Given the description of an element on the screen output the (x, y) to click on. 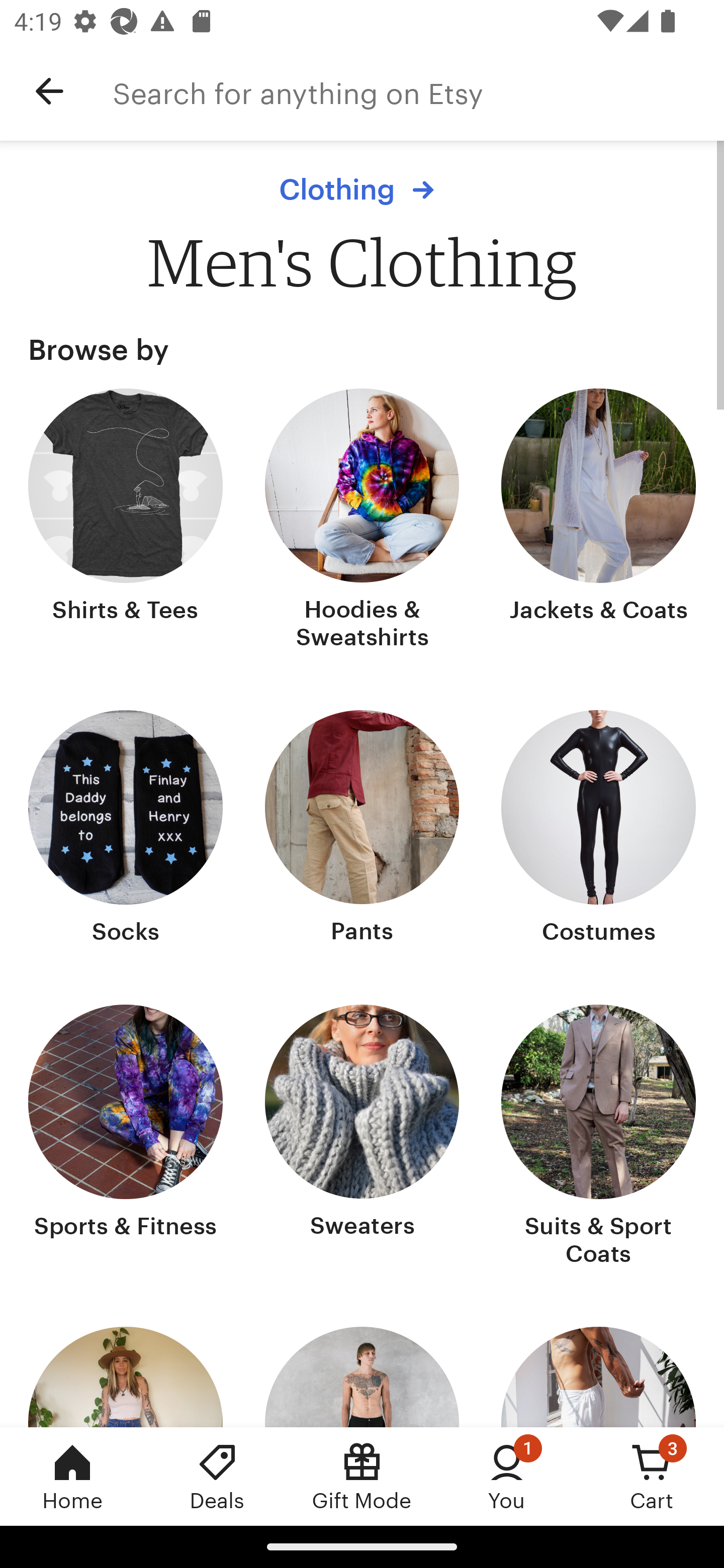
Navigate up (49, 91)
Search for anything on Etsy (418, 91)
Clothing (361, 189)
Shirts & Tees (125, 520)
Hoodies & Sweatshirts (361, 520)
Jackets & Coats (598, 520)
Socks (125, 829)
Pants (361, 829)
Costumes (598, 829)
Sports & Fitness (125, 1137)
Sweaters (361, 1137)
Suits & Sport Coats (598, 1137)
Jeans (125, 1376)
Shorts (361, 1376)
Pajamas & Robes (598, 1376)
Deals (216, 1475)
Gift Mode (361, 1475)
You, 1 new notification You (506, 1475)
Cart, 3 new notifications Cart (651, 1475)
